Given the description of an element on the screen output the (x, y) to click on. 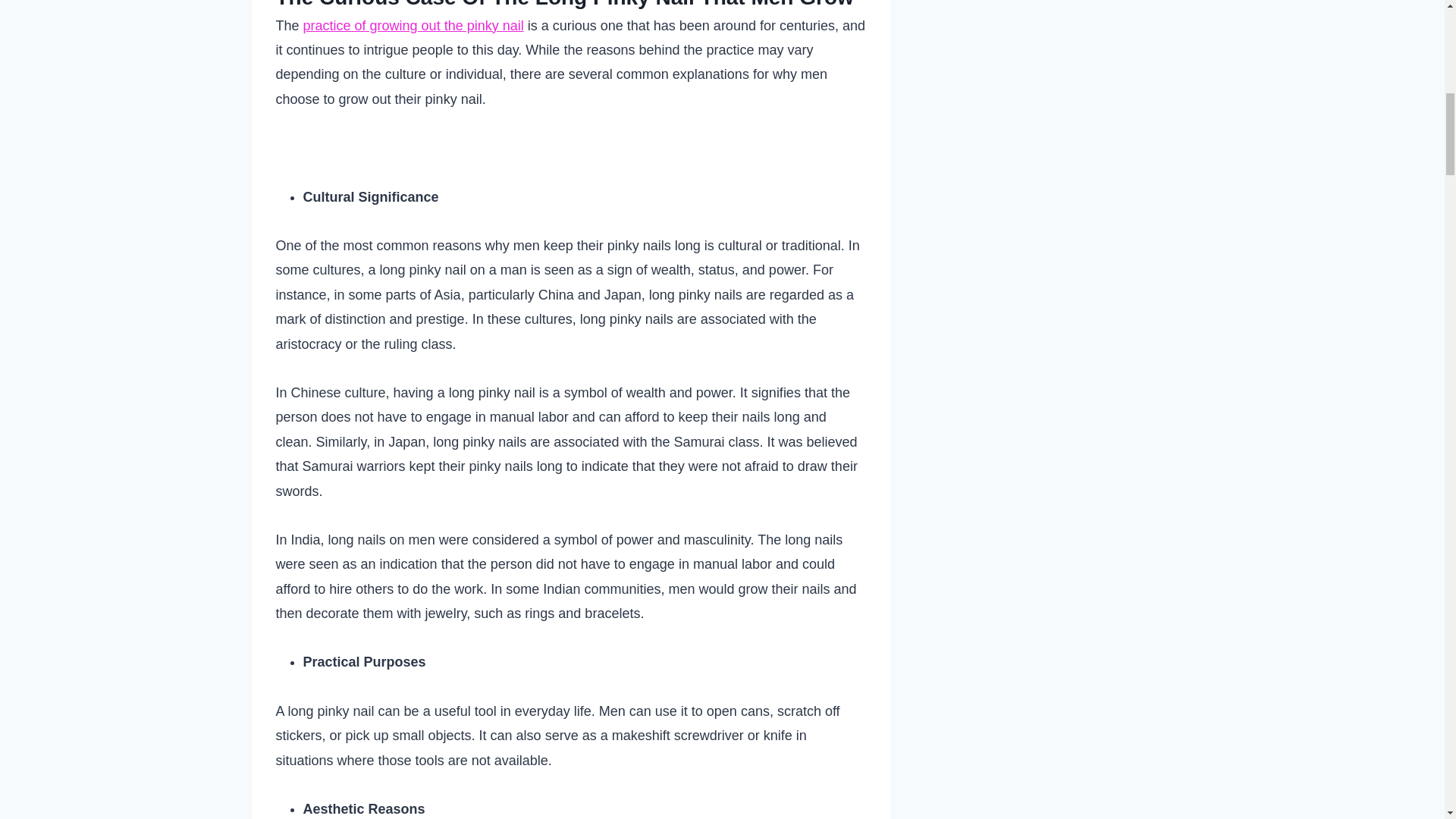
practice of growing out the pinky nail (413, 25)
